Given the description of an element on the screen output the (x, y) to click on. 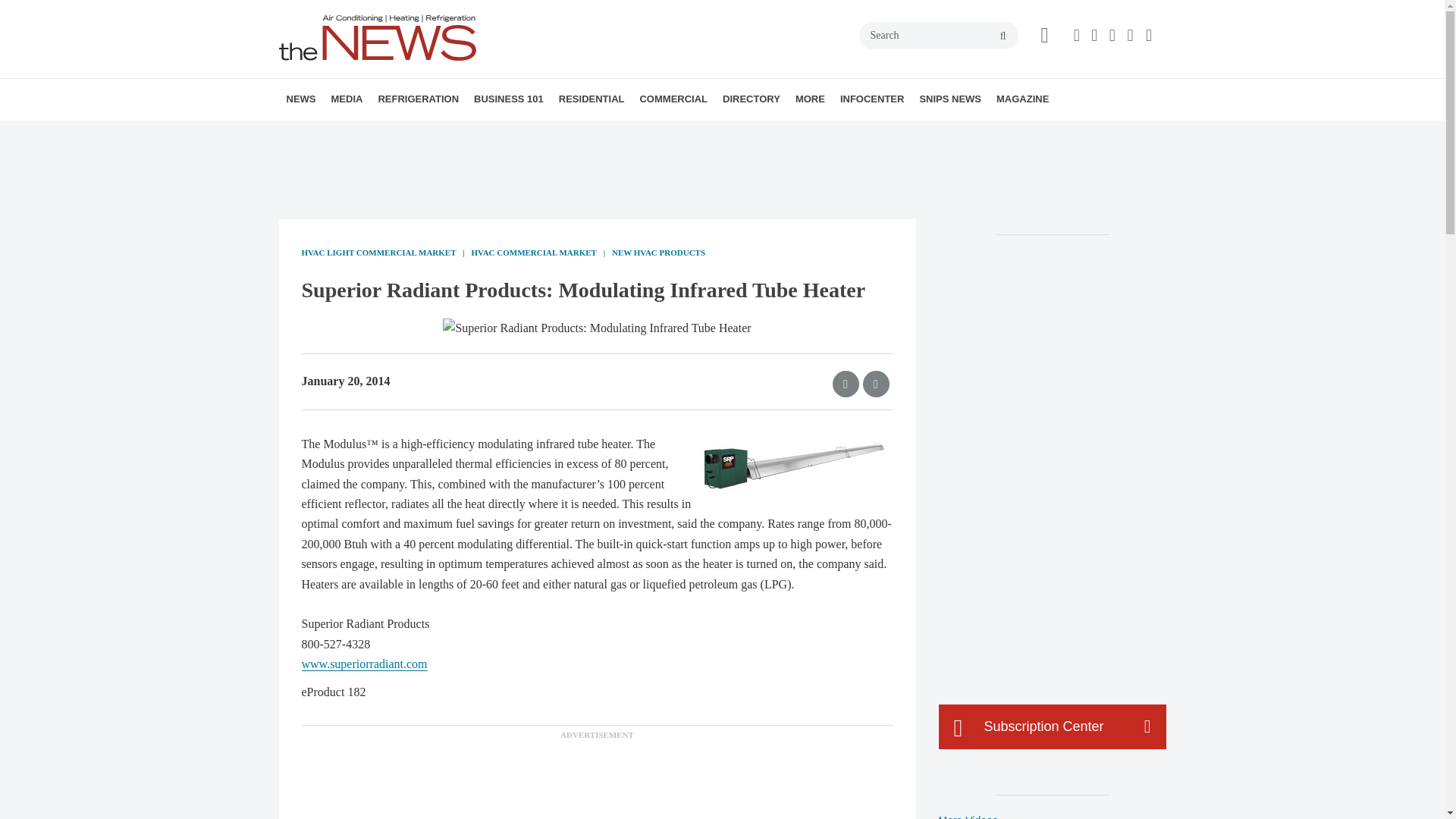
NEWS (301, 98)
HVAC DATA (391, 132)
NEW HVAC PRODUCTS (380, 132)
MANUFACTURER REPORTS (386, 132)
Search (938, 35)
THE NEWS HVACR QUIZ (445, 132)
MEDIA (346, 98)
BREAKING NEWS (373, 132)
FROSTLINES (478, 132)
REFRIGERANT REGULATIONS (472, 132)
